Given the description of an element on the screen output the (x, y) to click on. 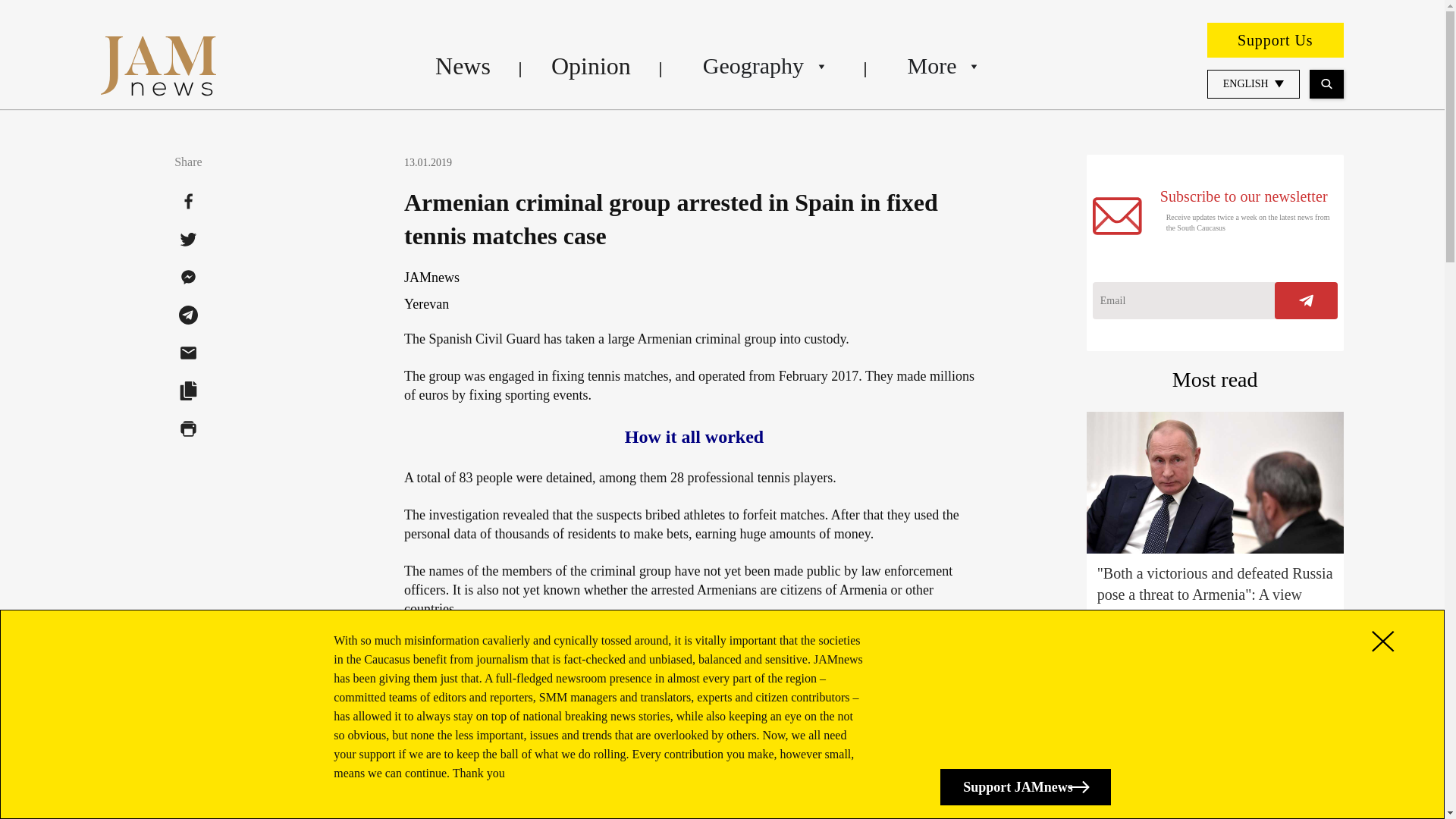
News (462, 65)
Opinion (591, 65)
Support Us (1275, 39)
Geography (763, 65)
More (942, 65)
